Given the description of an element on the screen output the (x, y) to click on. 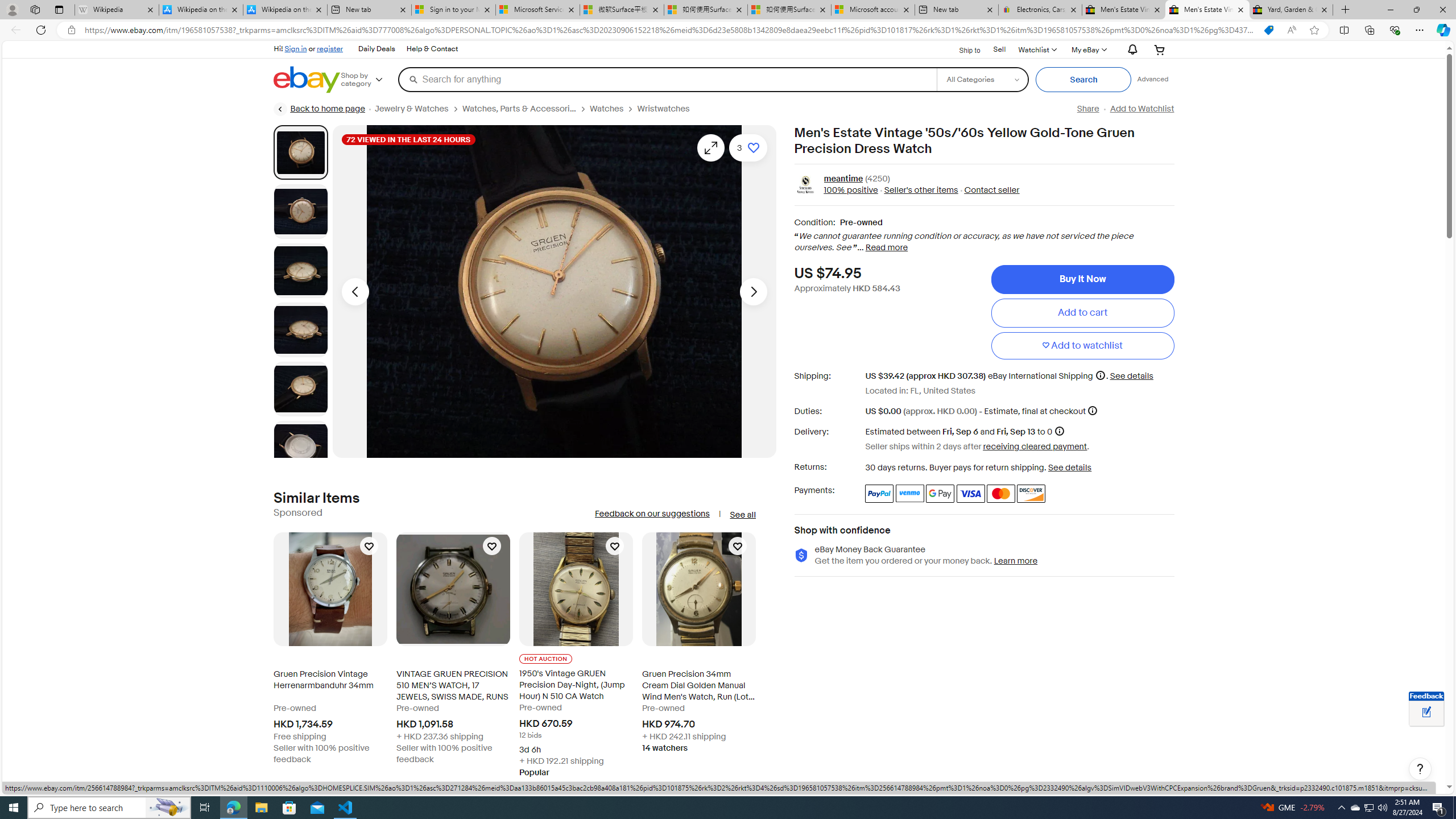
Contact seller (991, 190)
  Contact seller (988, 190)
Wristwatches (663, 108)
Watches (606, 108)
PayPal (878, 493)
Class: ux-action (804, 184)
Yard, Garden & Outdoor Living (1291, 9)
Daily Deals (376, 49)
This site has coupons! Shopping in Microsoft Edge (1268, 29)
More information (1092, 410)
Ship to (962, 48)
Help & Contact (431, 49)
